Given the description of an element on the screen output the (x, y) to click on. 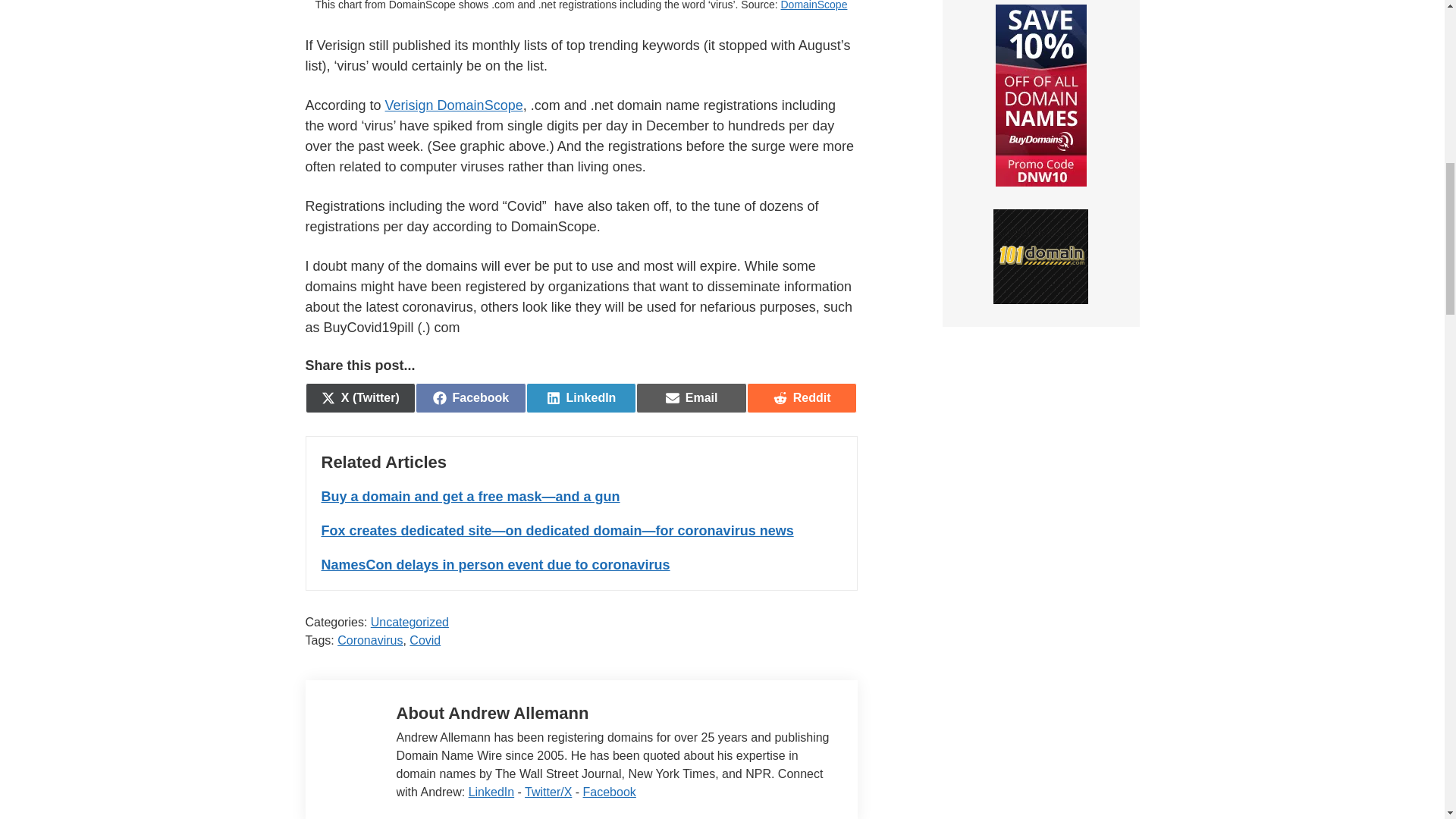
Verisign DomainScope (453, 105)
NamesCon delays in person event due to coronavirus (581, 398)
DomainScope (469, 398)
